Given the description of an element on the screen output the (x, y) to click on. 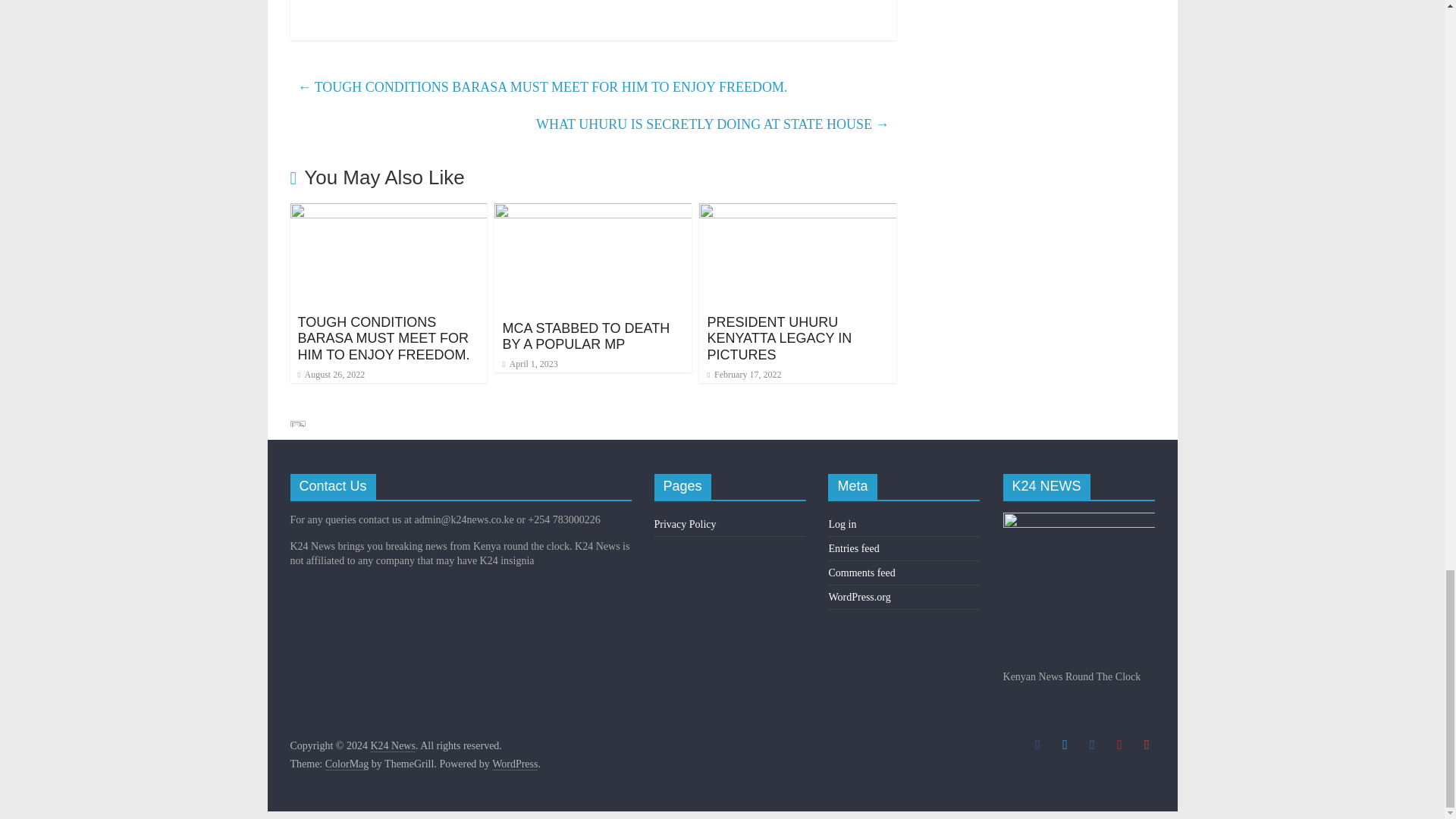
August 26, 2022 (331, 374)
MCA STABBED TO DEATH BY A POPULAR MP (585, 336)
TOUGH CONDITIONS BARASA MUST MEET FOR HIM TO ENJOY FREEDOM. (387, 212)
TOUGH CONDITIONS BARASA MUST MEET FOR HIM TO ENJOY FREEDOM. (382, 338)
